Given the description of an element on the screen output the (x, y) to click on. 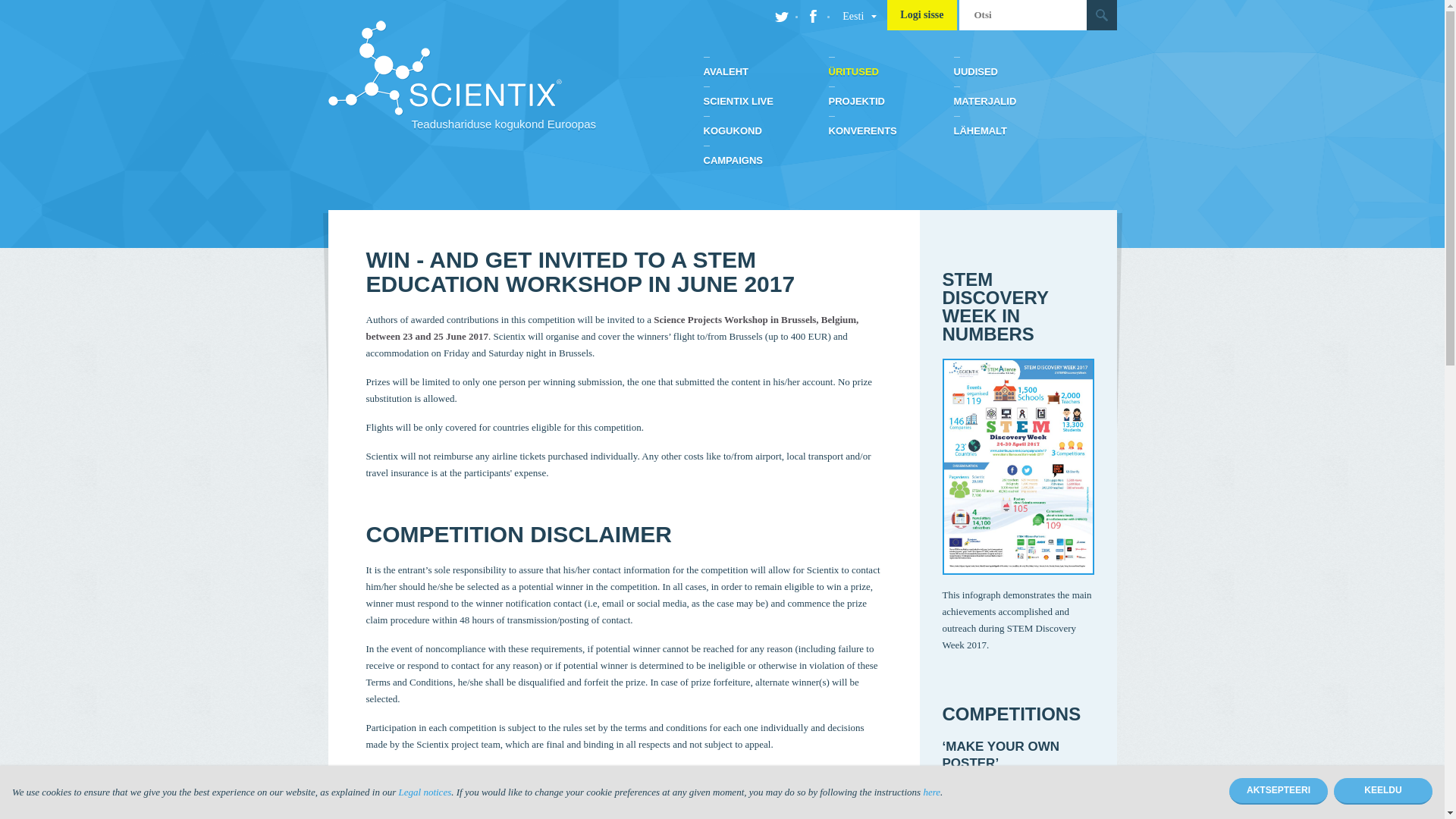
MATERJALID (1015, 101)
Accept Cookies (1277, 791)
here (931, 791)
Learn more about cookies (931, 791)
Teadushariduse kogukond Euroopas (499, 75)
UUDISED (1015, 71)
PROJEKTID (890, 101)
Logi sisse (921, 15)
SCIENTIX LIVE (765, 101)
Eesti (852, 16)
